Given the description of an element on the screen output the (x, y) to click on. 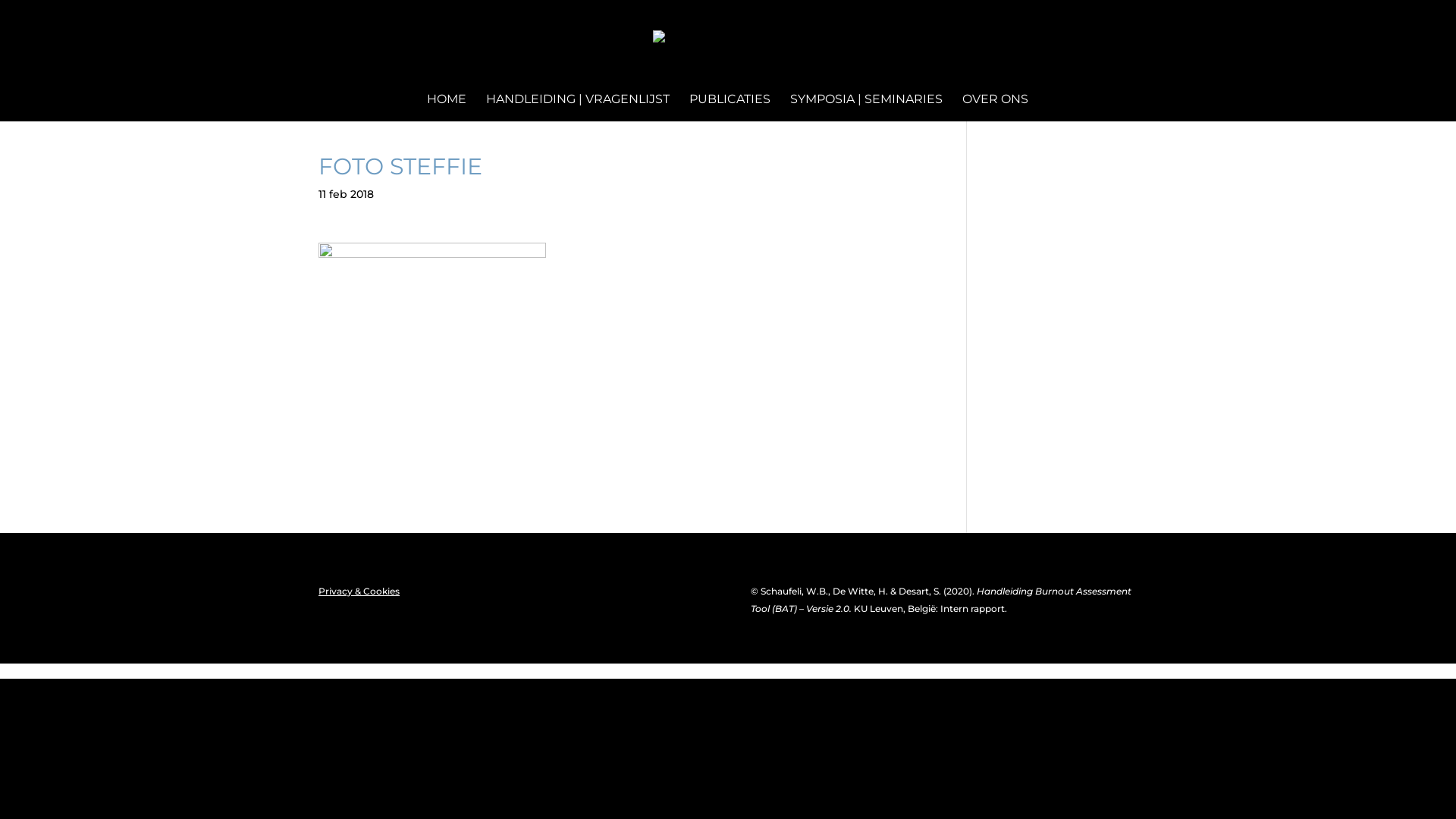
PUBLICATIES Element type: text (728, 107)
SYMPOSIA | SEMINARIES Element type: text (866, 107)
HANDLEIDING | VRAGENLIJST Element type: text (576, 107)
HOME Element type: text (445, 107)
Privacy & Cookies Element type: text (358, 590)
OVER ONS Element type: text (994, 107)
